Given the description of an element on the screen output the (x, y) to click on. 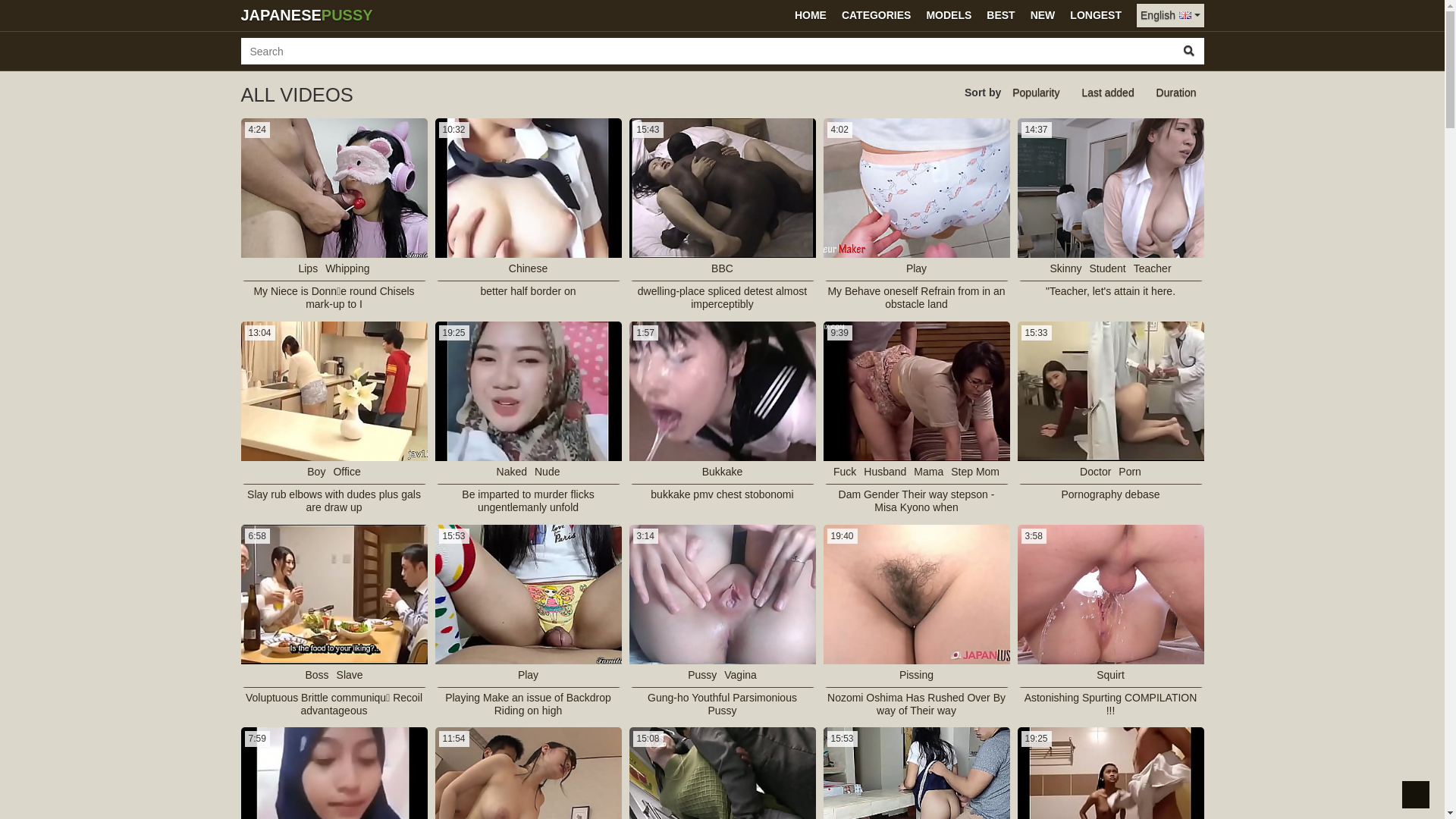
Naked Element type: text (511, 471)
Student Element type: text (1106, 268)
Fuck Element type: text (844, 471)
Duration Element type: text (1176, 92)
Nozomi Oshima Has Rushed Over By way of Their way Element type: text (915, 704)
Play Element type: text (527, 674)
Bukkake Element type: text (722, 471)
Astonishing Spurting COMPILATION !!! Element type: text (1109, 704)
Step Mom Element type: text (974, 471)
English Element type: text (1169, 15)
HOME Element type: text (810, 15)
Nude Element type: text (546, 471)
Playing Make an issue of Backdrop Riding on high Element type: text (527, 704)
Slay rub elbows with dudes plus gals are draw up Element type: text (333, 501)
Teacher Element type: text (1152, 268)
better half border on Element type: text (527, 291)
Mama Element type: text (928, 471)
Skinny Element type: text (1065, 268)
Slave Element type: text (349, 674)
CATEGORIES Element type: text (876, 15)
Boss Element type: text (316, 674)
MODELS Element type: text (948, 15)
Porn Element type: text (1129, 471)
Lips Element type: text (307, 268)
NEW Element type: text (1042, 15)
Search Element type: text (1188, 50)
Pussy Element type: text (701, 674)
bukkake pmv chest stobonomi Element type: text (721, 494)
Be imparted to murder flicks ungentlemanly unfold Element type: text (527, 501)
Last added Element type: text (1107, 92)
Popularity Element type: text (1035, 92)
Pissing Element type: text (916, 674)
"Teacher, let's attain it here. Element type: text (1110, 291)
BBC Element type: text (722, 268)
Whipping Element type: text (347, 268)
For searching please use latin letters Element type: hover (707, 50)
dwelling-place spliced detest almost imperceptibly Element type: text (721, 297)
My Behave oneself Refrain from in an obstacle land Element type: text (915, 297)
BEST Element type: text (1000, 15)
Boy Element type: text (316, 471)
Chinese Element type: text (527, 268)
Husband Element type: text (884, 471)
Play Element type: text (916, 268)
Office Element type: text (346, 471)
Dam Gender Their way stepson - Misa Kyono when Element type: text (915, 501)
Vagina Element type: text (740, 674)
Pornography debase Element type: text (1110, 494)
Gung-ho Youthful Parsimonious Pussy Element type: text (721, 704)
LONGEST Element type: text (1095, 15)
Doctor Element type: text (1094, 471)
Squirt Element type: text (1110, 674)
JAPANESEPUSSY Element type: text (307, 15)
